Given the description of an element on the screen output the (x, y) to click on. 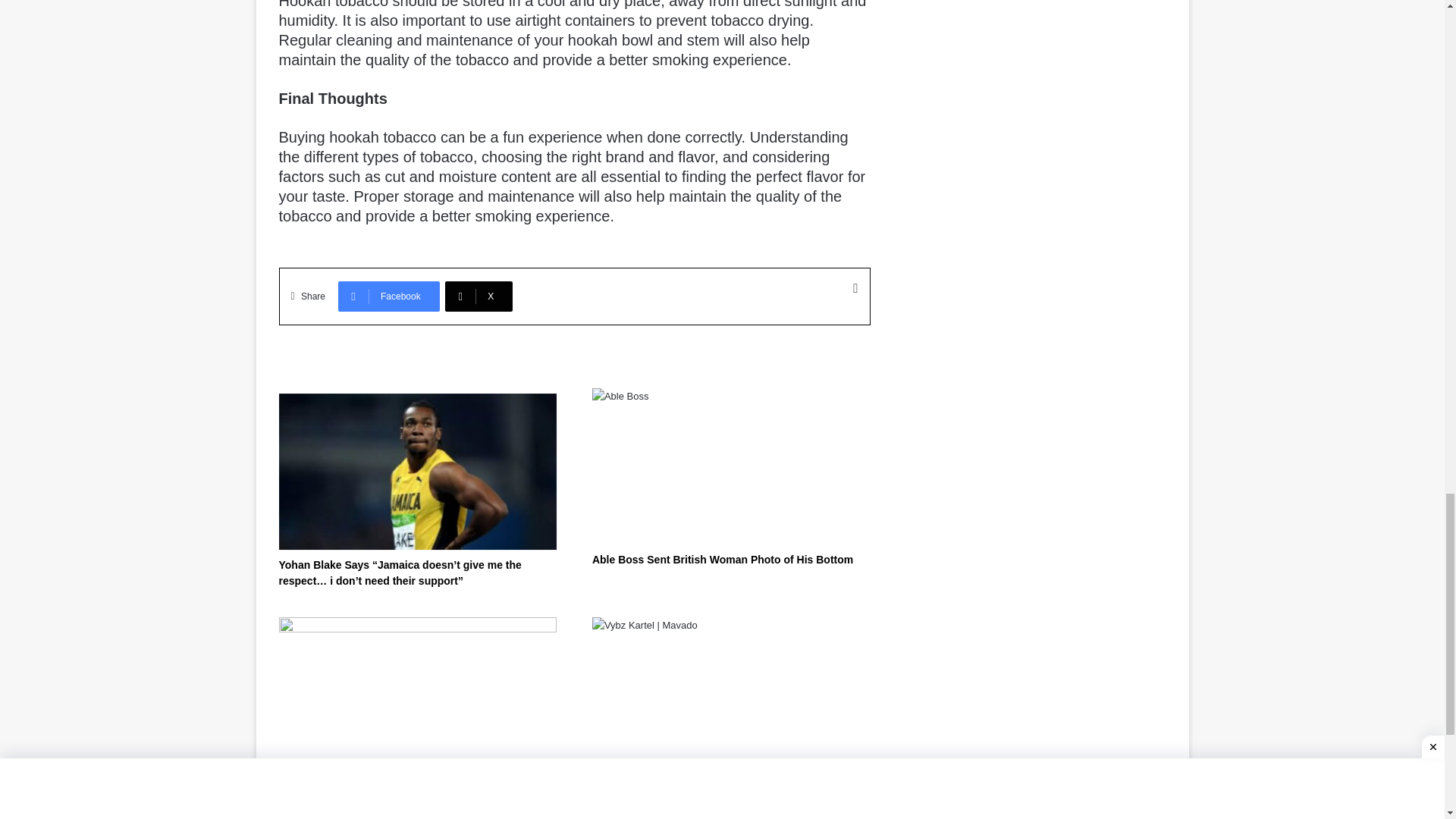
X (478, 296)
Facebook (388, 296)
Facebook (388, 296)
X (478, 296)
